Given the description of an element on the screen output the (x, y) to click on. 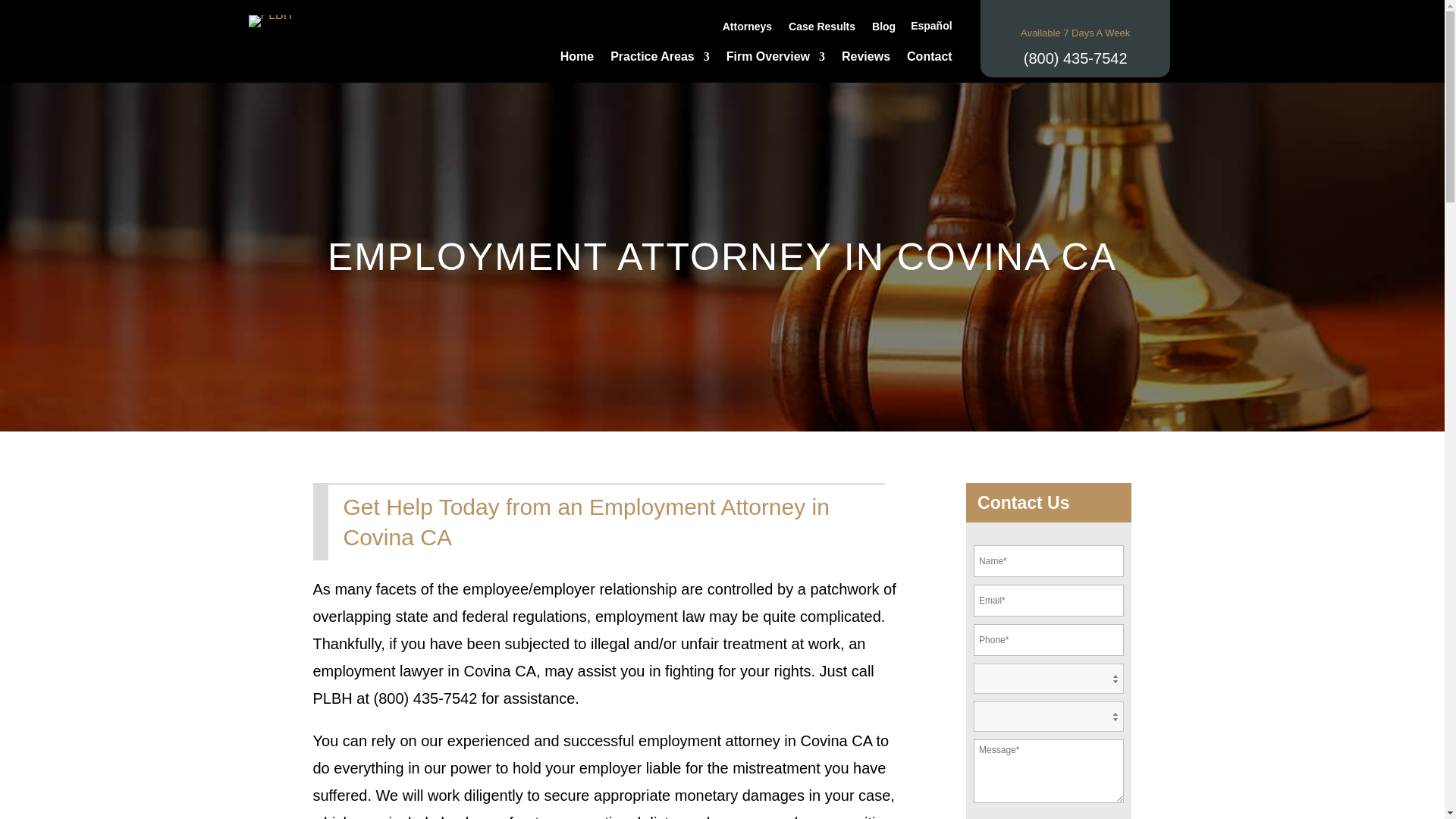
Attorneys (746, 29)
Reviews (865, 59)
Practice Areas (660, 59)
Blog (883, 29)
Home (577, 59)
Firm Overview (775, 59)
Contact (929, 59)
PLBH (270, 21)
Case Results (822, 29)
